Given the description of an element on the screen output the (x, y) to click on. 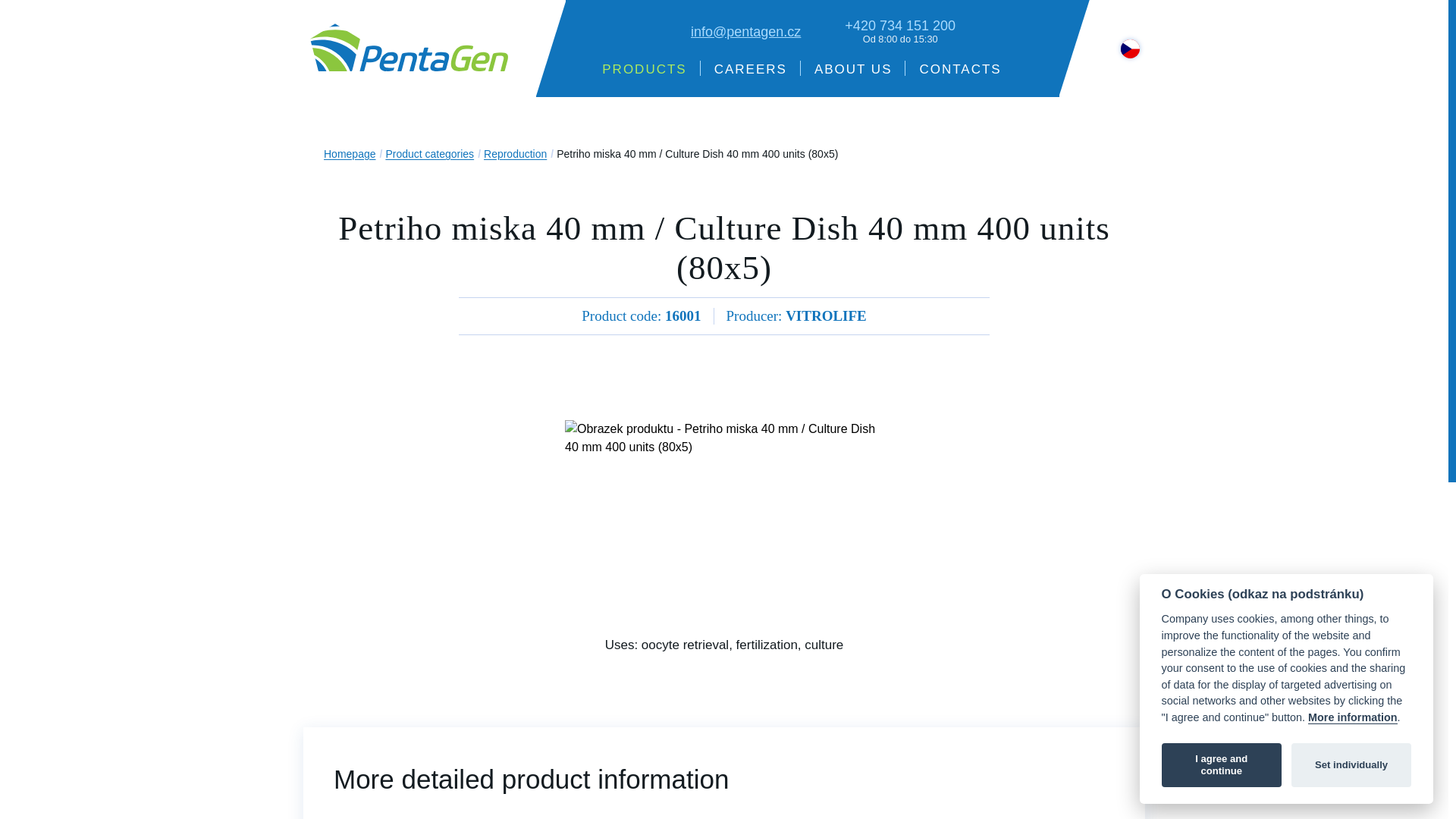
Products (644, 68)
PentaGen (405, 53)
PRODUCTS (644, 68)
